Given the description of an element on the screen output the (x, y) to click on. 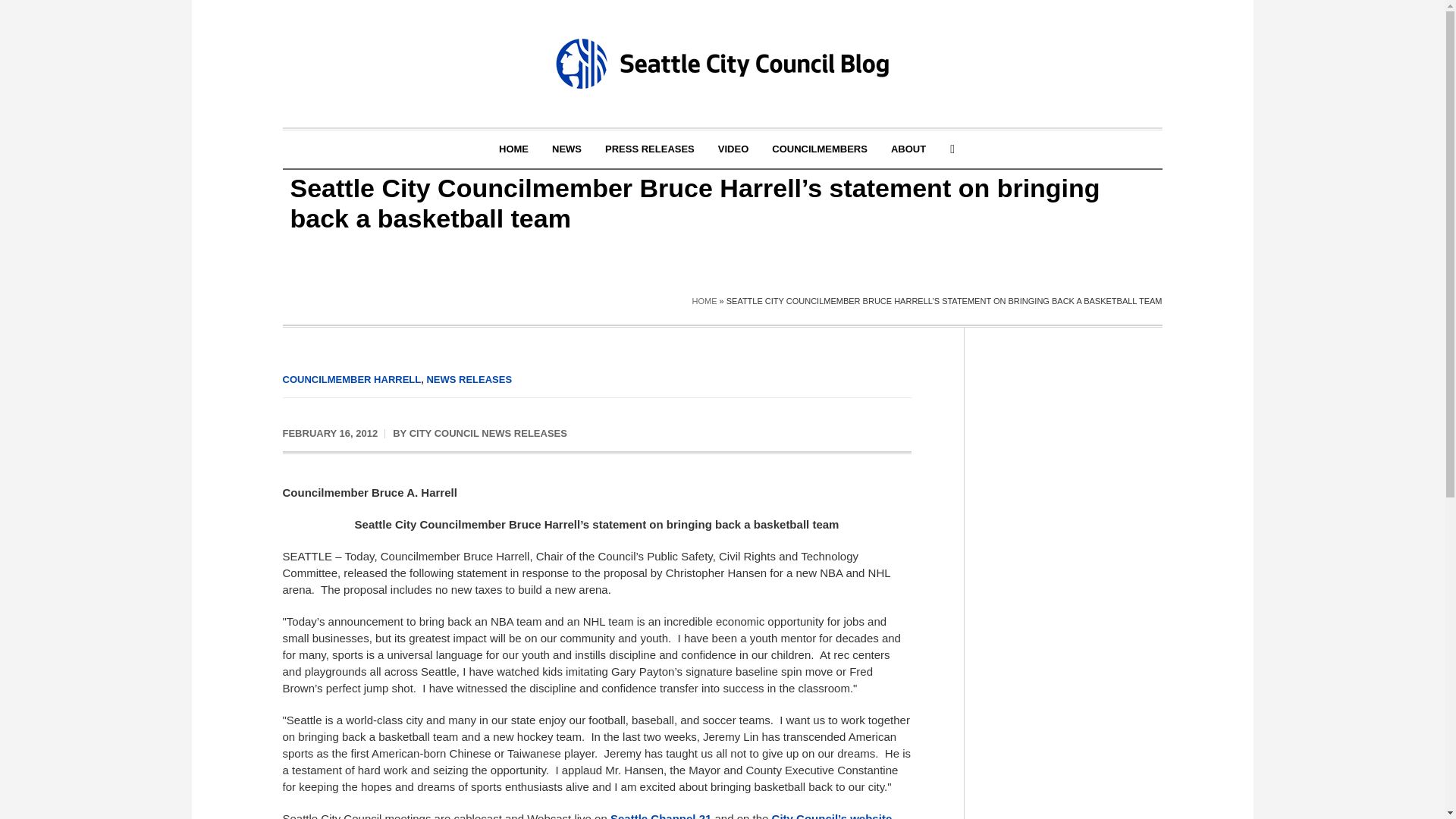
VIDEO (733, 149)
Posts by City Council News Releases (488, 432)
HOME (513, 149)
CITY COUNCIL NEWS RELEASES (488, 432)
NEWS RELEASES (469, 378)
HOME (703, 300)
ABOUT (908, 149)
COUNCILMEMBER HARRELL (351, 378)
PRESS RELEASES (650, 149)
COUNCILMEMBERS (819, 149)
